Given the description of an element on the screen output the (x, y) to click on. 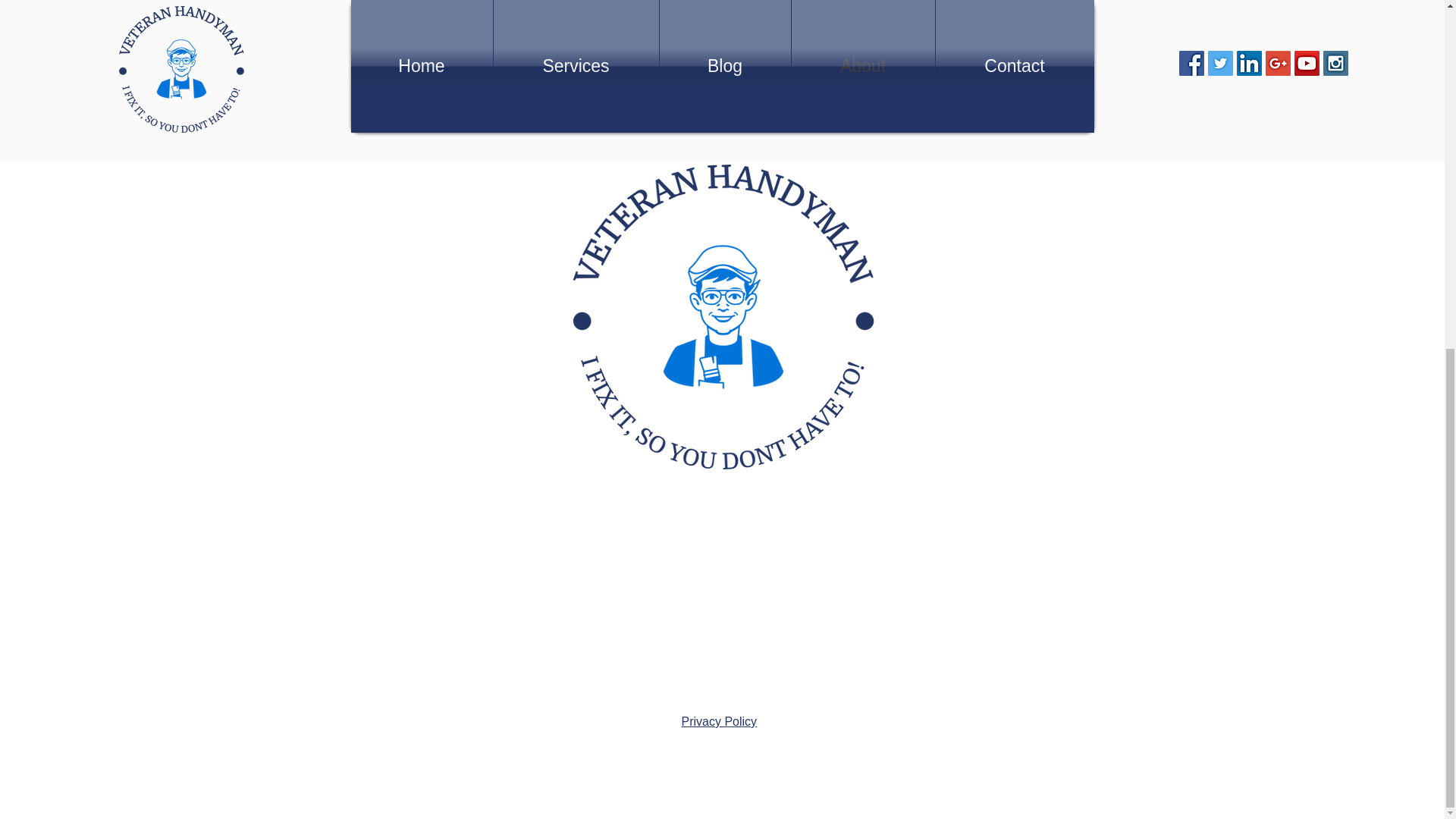
Privacy Policy (719, 721)
